Given the description of an element on the screen output the (x, y) to click on. 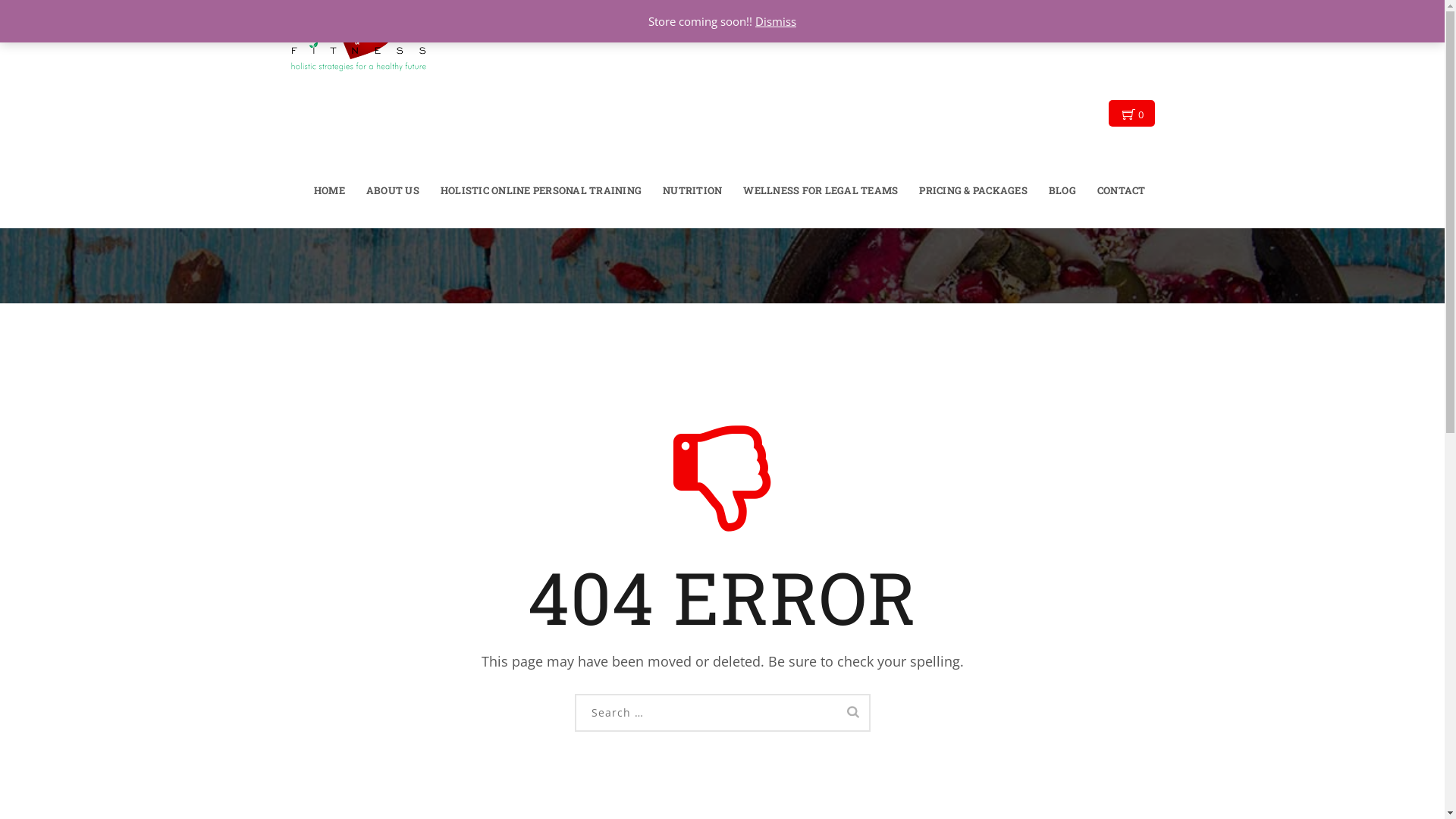
HOLISTIC ONLINE PERSONAL TRAINING Element type: text (540, 190)
NUTRITION Element type: text (691, 190)
404 Element type: text (1132, 189)
CONTACT Element type: text (1121, 190)
HOME Element type: text (329, 190)
ABOUT US Element type: text (392, 190)
Search Element type: text (852, 710)
0 Element type: text (1131, 113)
WELLNESS FOR LEGAL TEAMS Element type: text (820, 190)
BLOG Element type: text (1062, 190)
Dismiss Element type: text (775, 20)
PRICING & PACKAGES Element type: text (973, 190)
Go to Personal Trainer Perth. Element type: hover (1090, 189)
Personal Trainer Perth Element type: hover (357, 37)
